Given the description of an element on the screen output the (x, y) to click on. 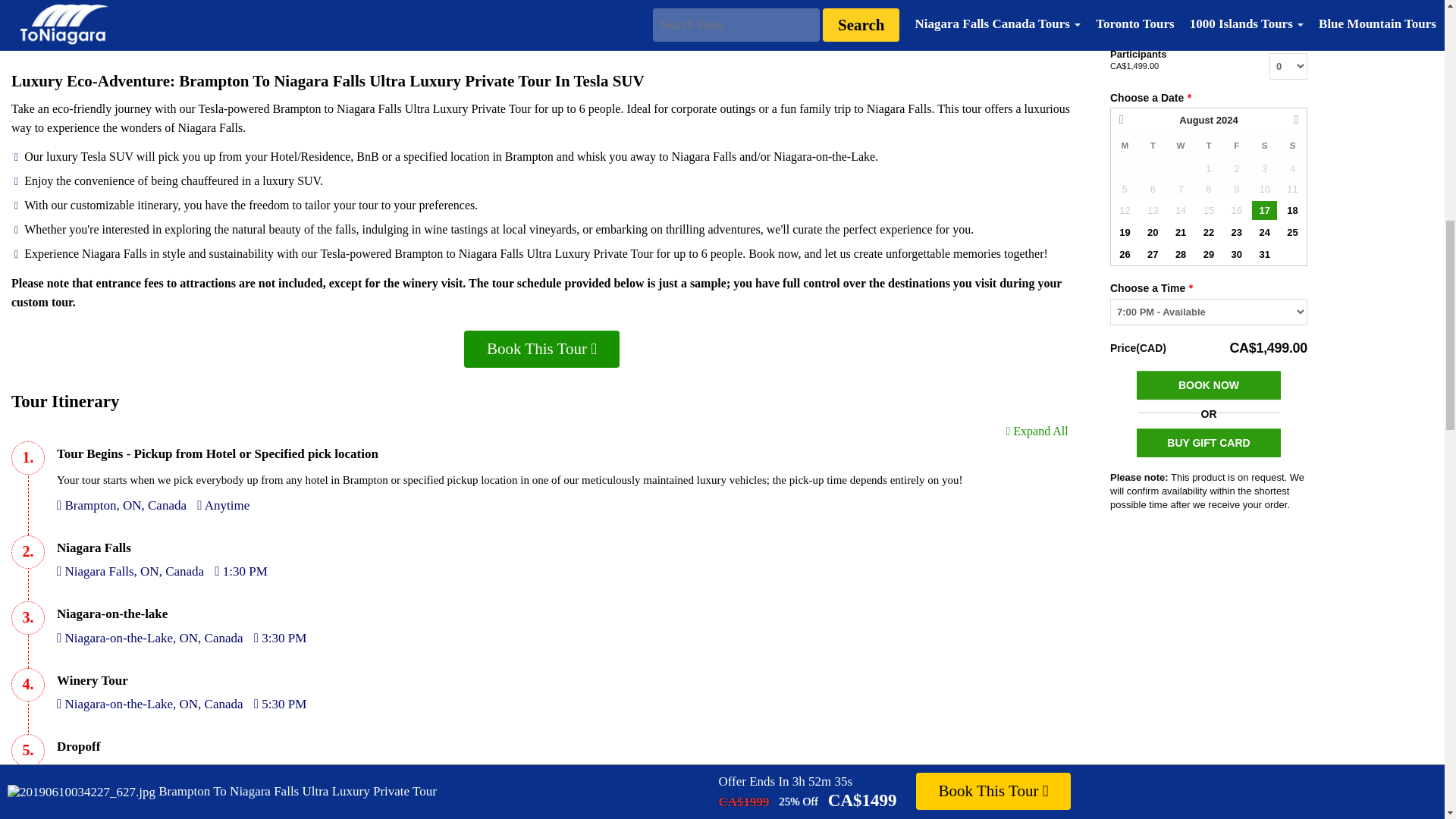
Reviews (115, 30)
Schedule (46, 30)
Book This Tour (542, 348)
Book This Tour (542, 809)
Expand All (1036, 431)
